Given the description of an element on the screen output the (x, y) to click on. 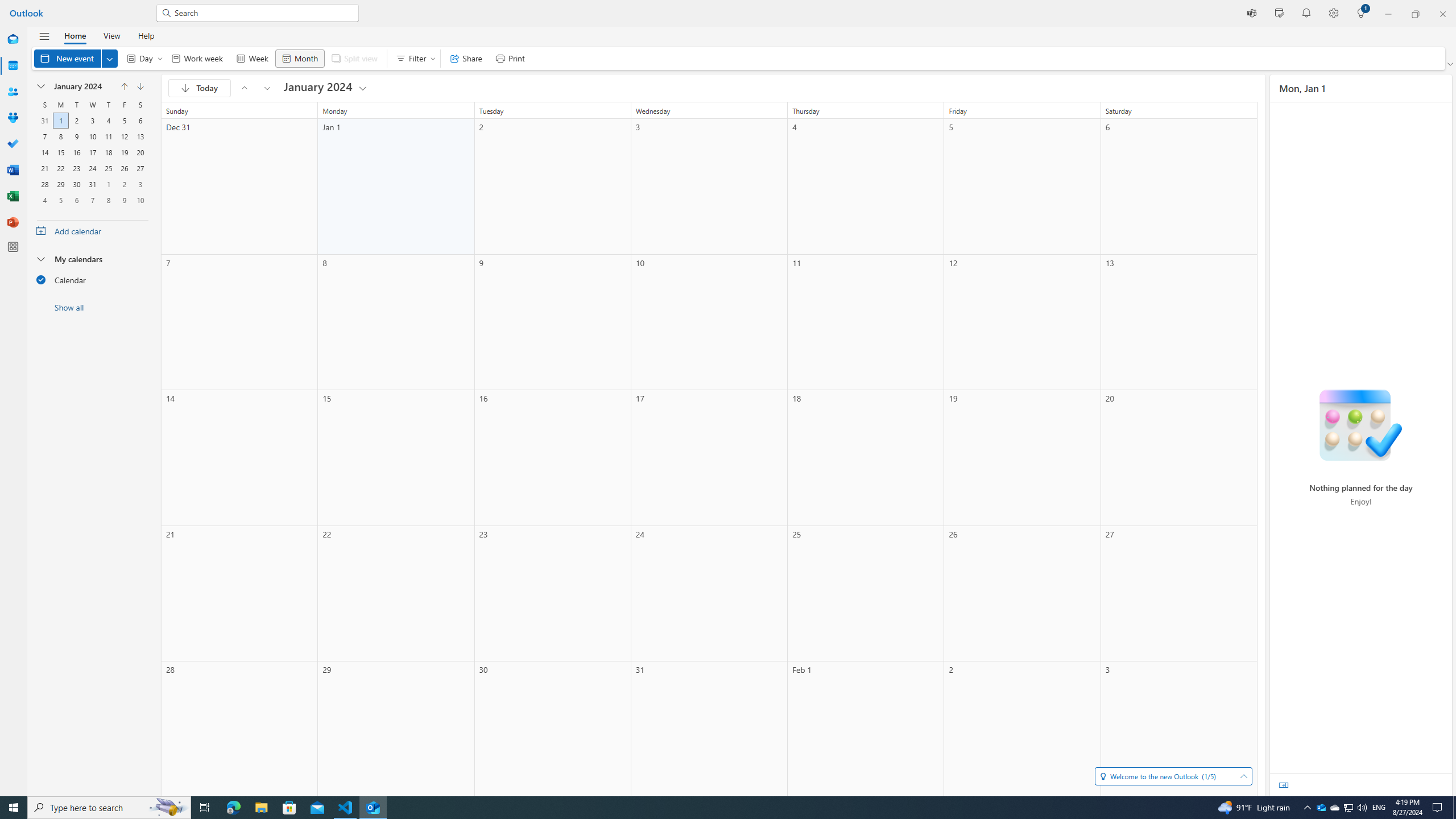
Help (146, 35)
11, January, 2024 (108, 136)
9, January, 2024 (76, 136)
5, February, 2024 (60, 200)
19, January, 2024 (124, 152)
Go to previous month December (124, 86)
31, January, 2024 (92, 184)
9, February, 2024 (124, 200)
January 2024, select to change the month (82, 86)
View (111, 35)
8, January, 2024 (59, 136)
Excel (12, 196)
Expand to see more New options (109, 58)
8, February, 2024 (108, 200)
